Given the description of an element on the screen output the (x, y) to click on. 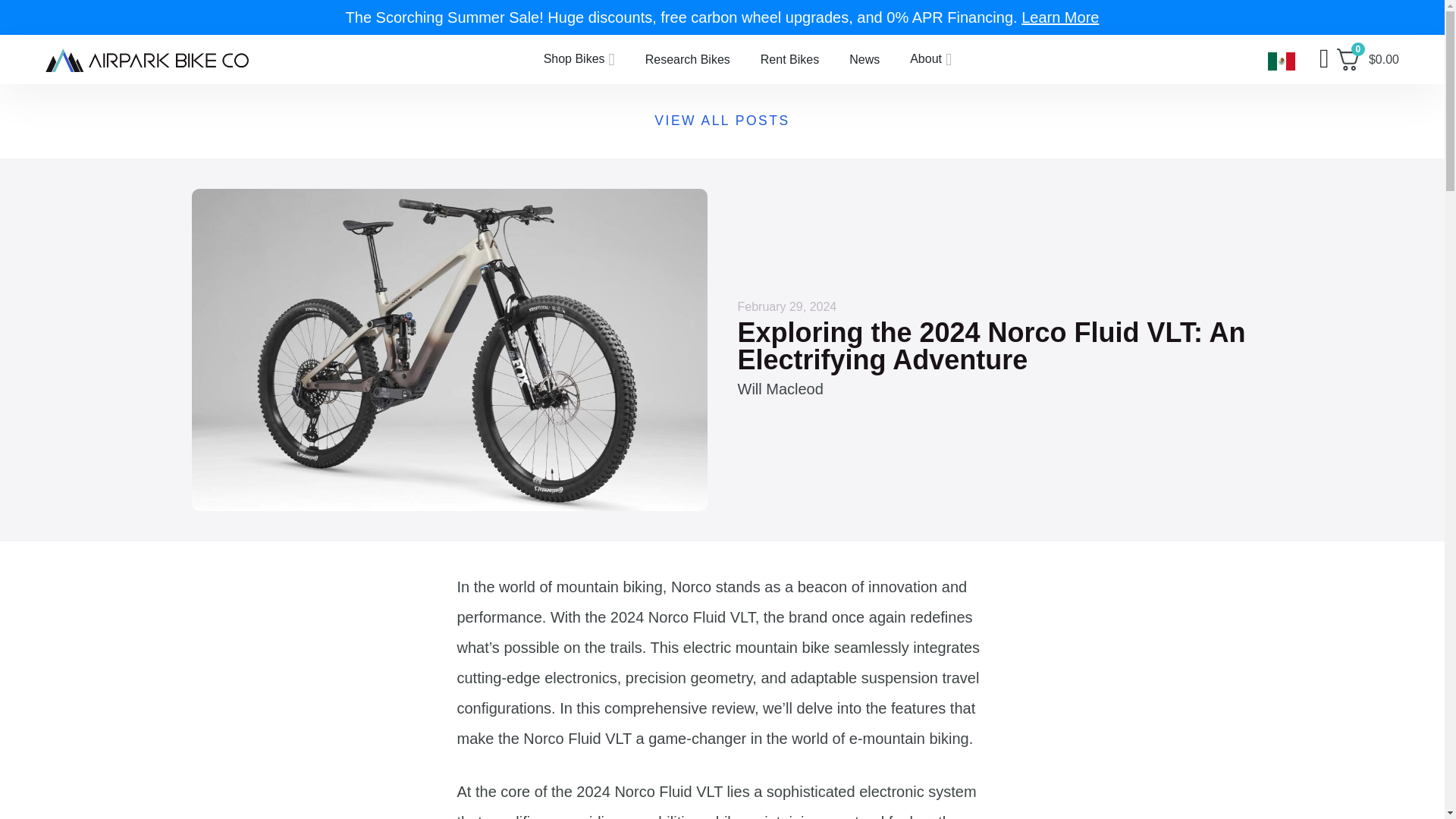
Go Home (146, 58)
Rent Bikes (789, 58)
News (864, 58)
Shop Bikes (579, 59)
ES (1280, 61)
Research Bikes (687, 58)
About (930, 59)
